Given the description of an element on the screen output the (x, y) to click on. 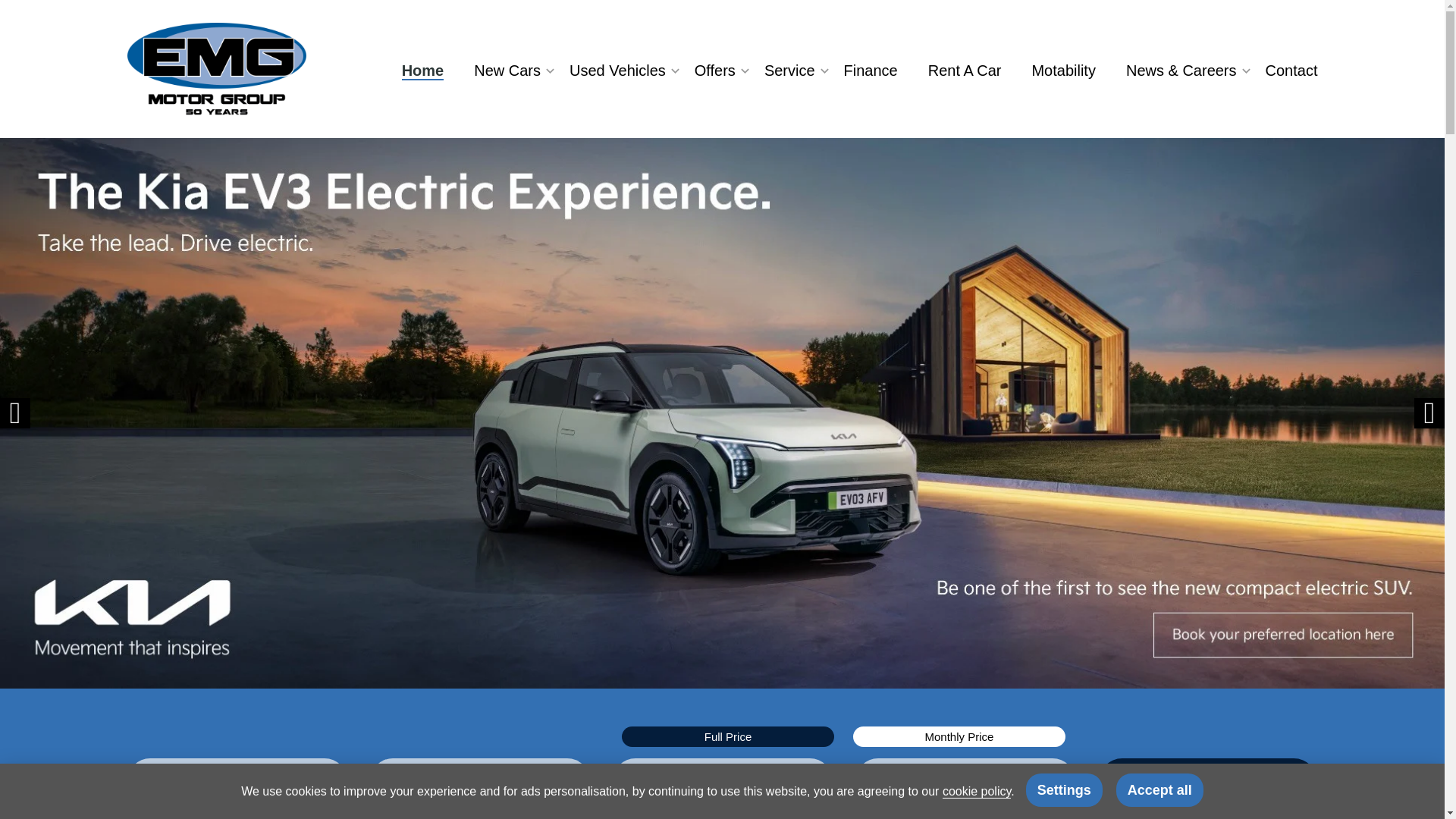
Motability (1062, 70)
Rent A Car (964, 70)
Finance (870, 70)
Used Vehicles (616, 70)
Contact (1283, 70)
New Cars (506, 70)
Offers (714, 70)
Service (788, 70)
Home (430, 70)
